Given the description of an element on the screen output the (x, y) to click on. 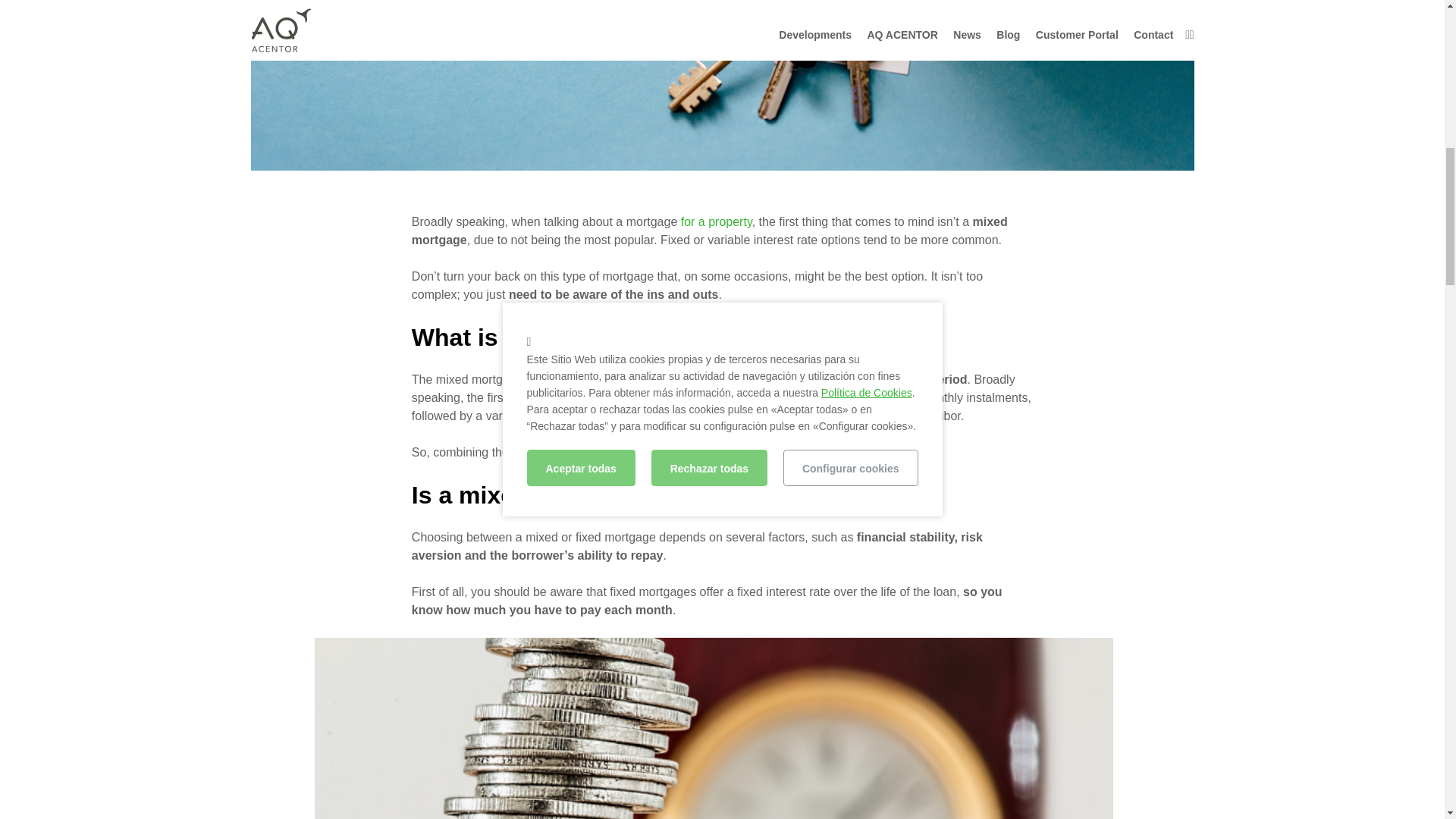
for a property (716, 221)
